Given the description of an element on the screen output the (x, y) to click on. 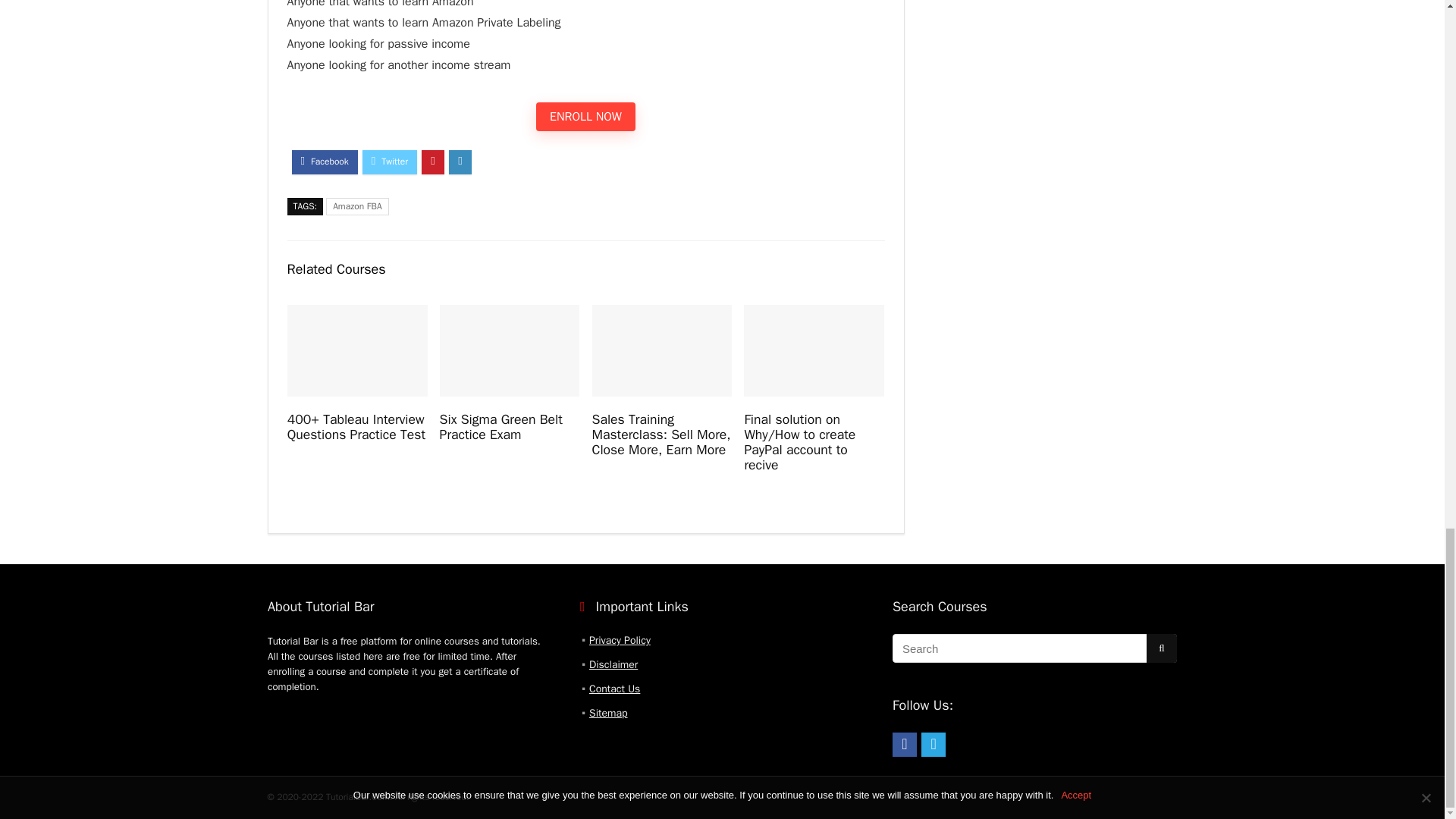
Six Sigma Green Belt Practice Exam (500, 427)
ENROLL NOW (584, 116)
Amazon FBA (357, 206)
Sales Training Masterclass: Sell More, Close More, Earn More (660, 434)
